Given the description of an element on the screen output the (x, y) to click on. 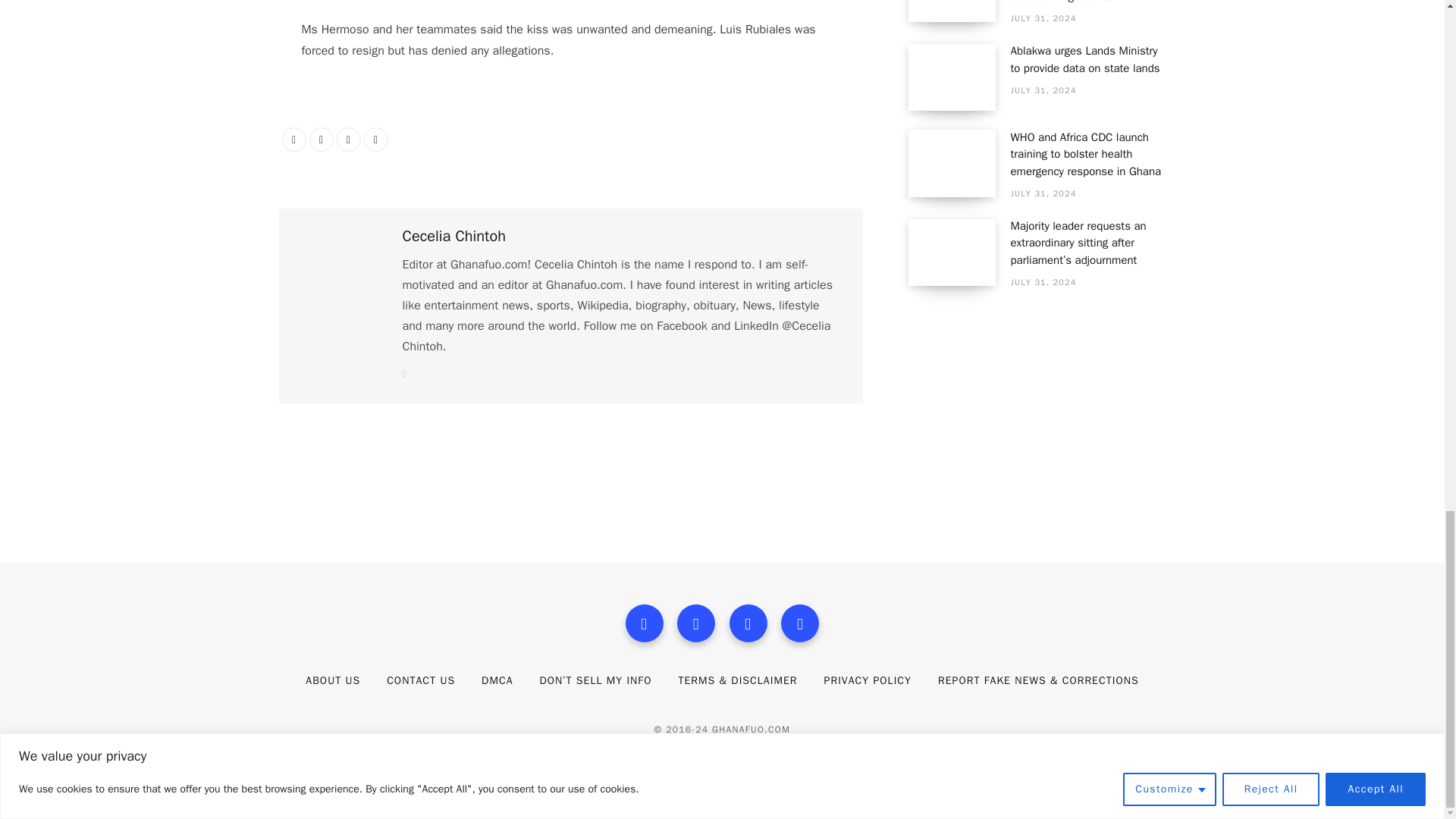
Cecelia Chintoh (453, 236)
